Given the description of an element on the screen output the (x, y) to click on. 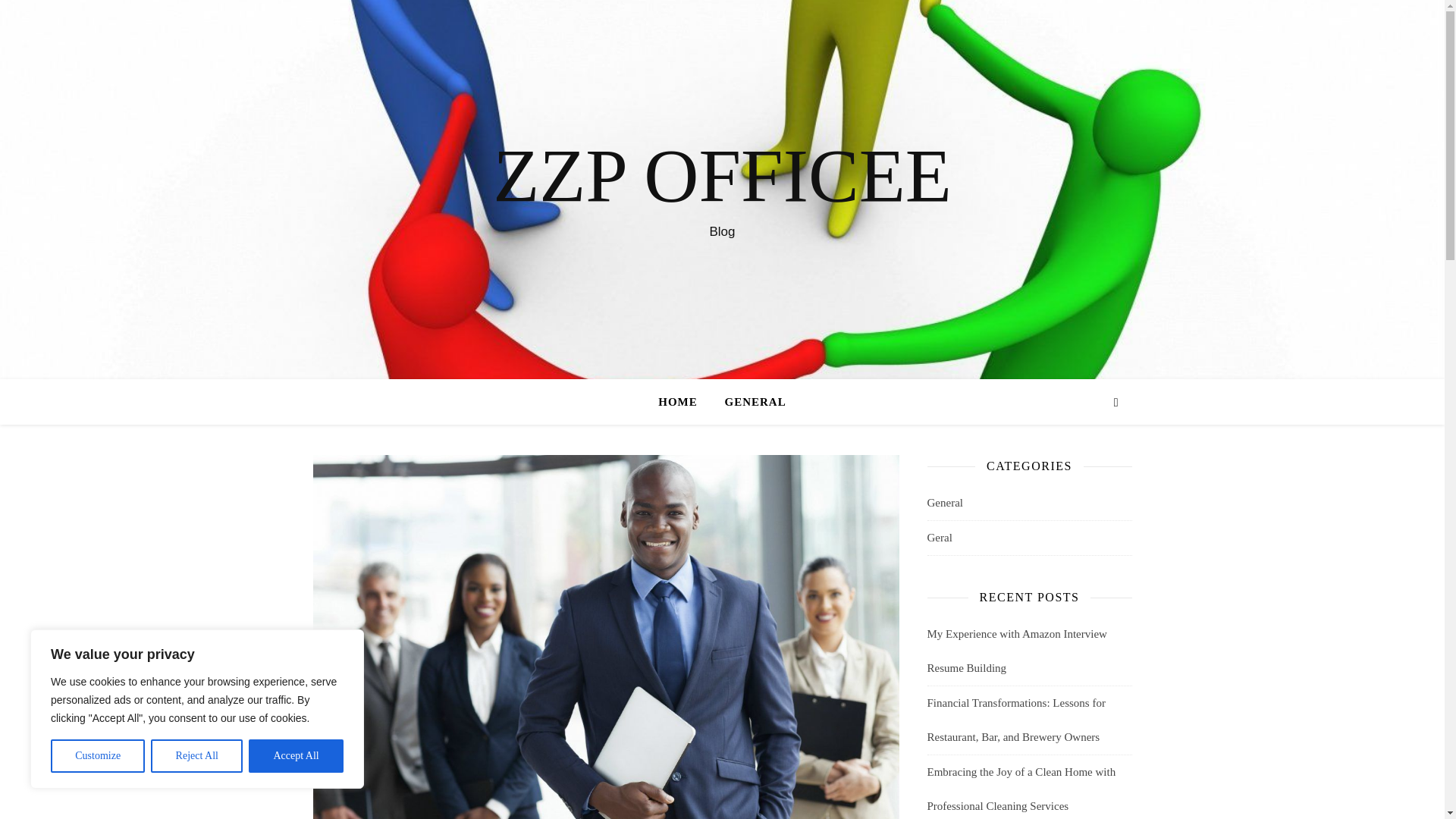
Reject All (197, 756)
Accept All (295, 756)
Customize (97, 756)
HOME (684, 402)
GENERAL (749, 402)
General (944, 503)
